Given the description of an element on the screen output the (x, y) to click on. 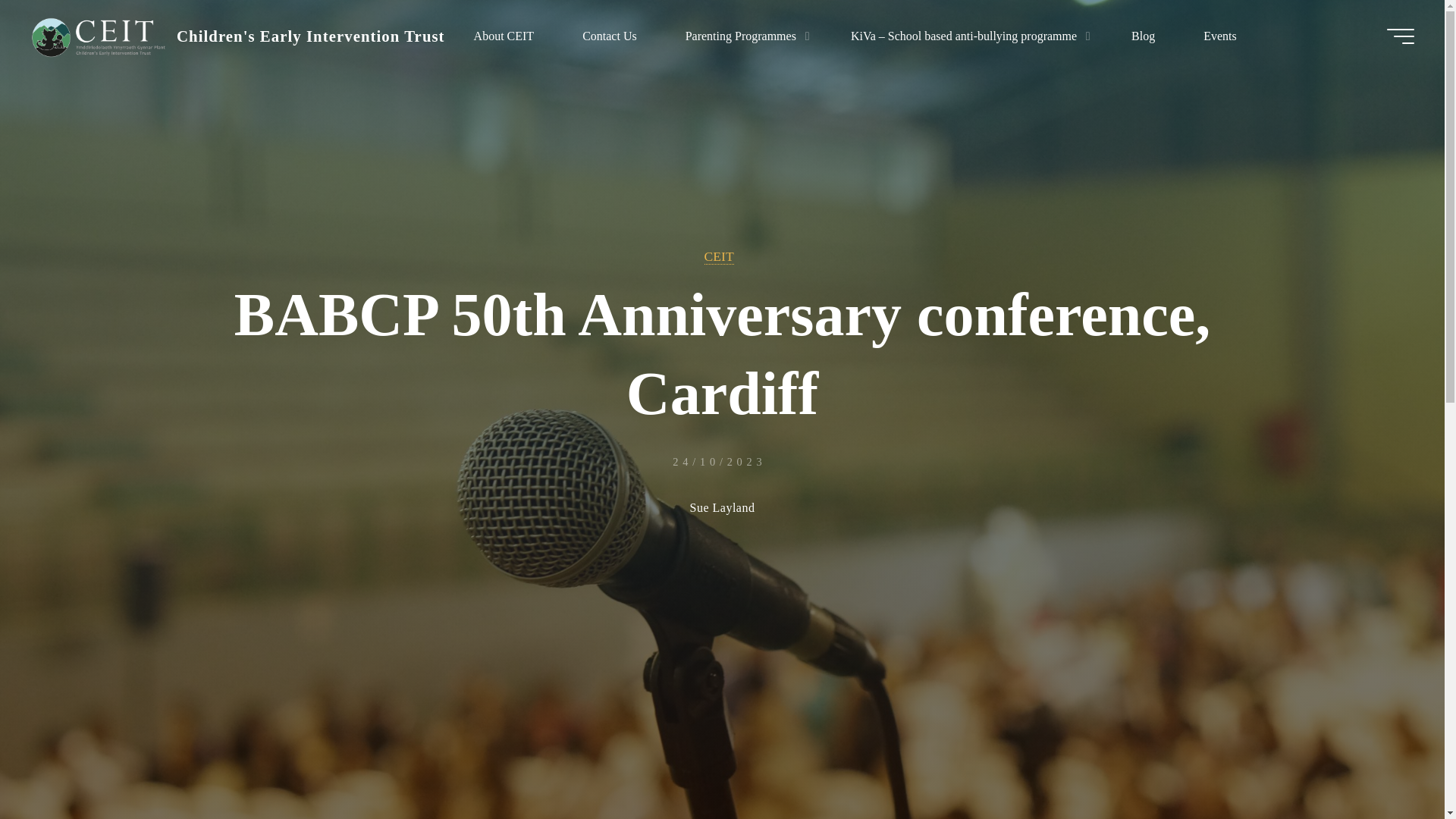
CEIT (718, 256)
Sue Layland (722, 509)
Children's Early Intervention Trust (97, 35)
About CEIT (504, 35)
Read more (721, 724)
Children's Early Intervention Trust (310, 36)
Contact Us (609, 35)
View all posts by Sue Layland (722, 509)
Parenting Programmes (744, 35)
